Given the description of an element on the screen output the (x, y) to click on. 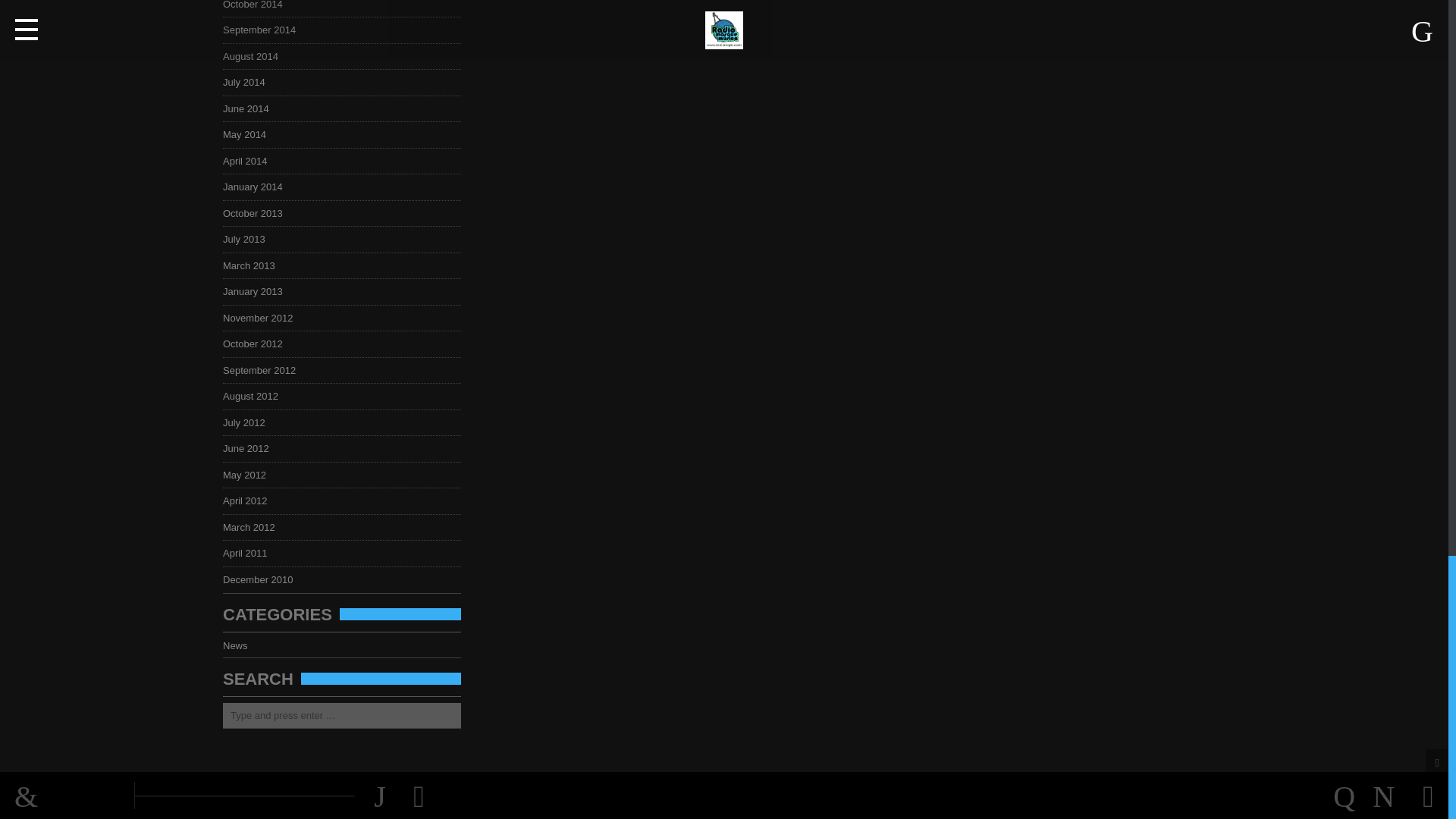
May 2014 (248, 134)
June 2012 (250, 448)
May 2012 (248, 474)
January 2014 (257, 186)
July 2014 (248, 81)
March 2013 (252, 265)
October 2013 (257, 213)
July 2012 (248, 422)
July 2013 (248, 238)
November 2012 (262, 317)
April 2014 (249, 161)
June 2014 (250, 108)
August 2014 (254, 56)
October 2014 (257, 4)
October 2012 (257, 343)
